Given the description of an element on the screen output the (x, y) to click on. 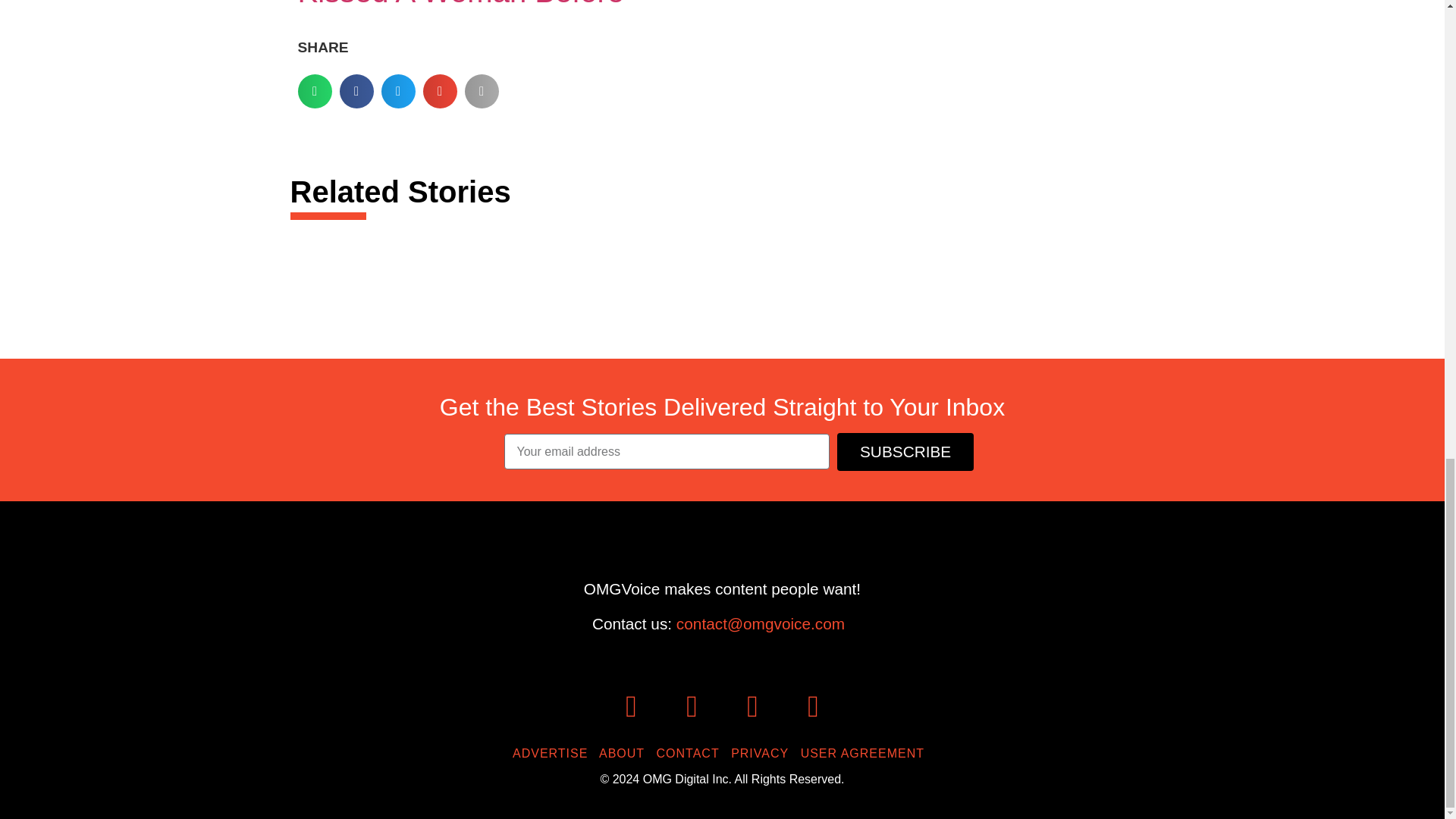
SUBSCRIBE (905, 451)
Stivo Simpleboy Says He Has Never Kissed A Woman Before (543, 4)
PRIVACY (763, 753)
CONTACT (691, 753)
USER AGREEMENT (865, 753)
ABOUT (625, 753)
ADVERTISE (553, 753)
